Given the description of an element on the screen output the (x, y) to click on. 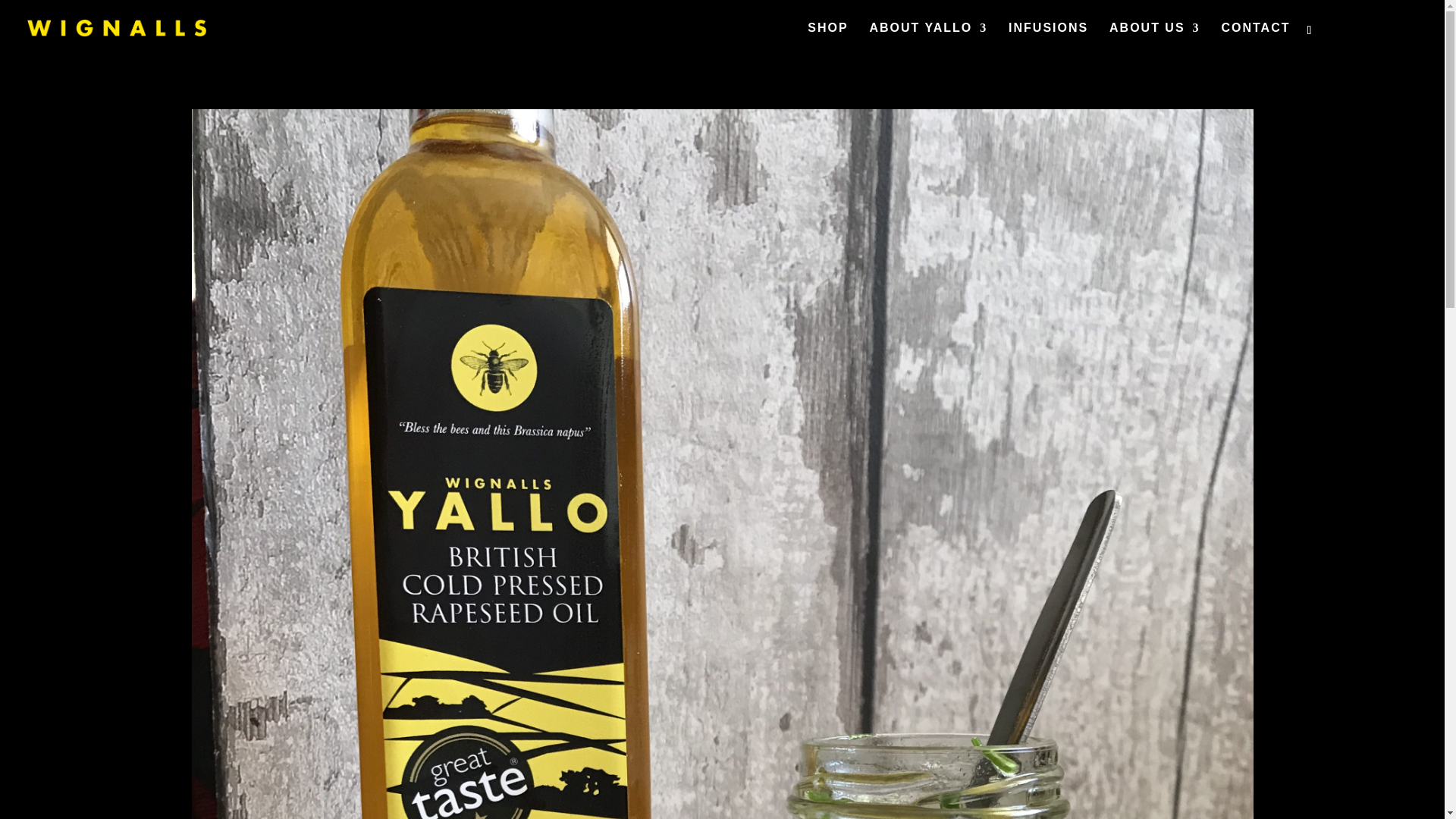
ABOUT US (1154, 39)
CONTACT (1255, 39)
ABOUT YALLO (928, 39)
INFUSIONS (1048, 39)
SHOP (827, 39)
